Given the description of an element on the screen output the (x, y) to click on. 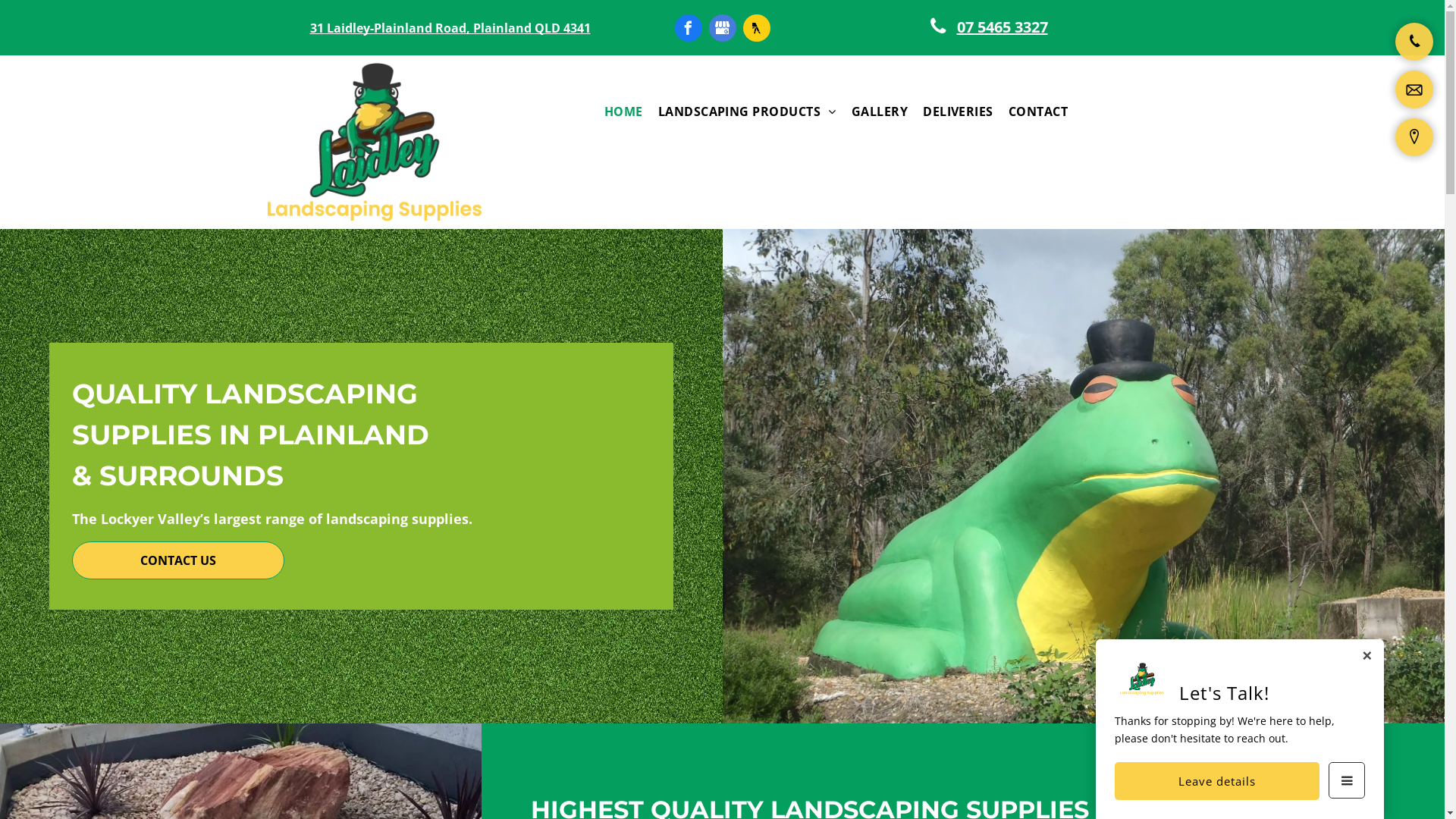
Laidley Landscaping Supplies Element type: hover (373, 141)
Leave details Element type: text (1216, 781)
31 Laidley-Plainland Road, Plainland QLD 4341 Element type: text (449, 27)
07 5465 3327 Element type: text (994, 26)
CONTACT US Element type: text (178, 560)
LANDSCAPING PRODUCTS Element type: text (747, 111)
CONTACT Element type: text (1038, 111)
GALLERY Element type: text (879, 111)
HOME Element type: text (623, 111)
DELIVERIES Element type: text (958, 111)
